Given the description of an element on the screen output the (x, y) to click on. 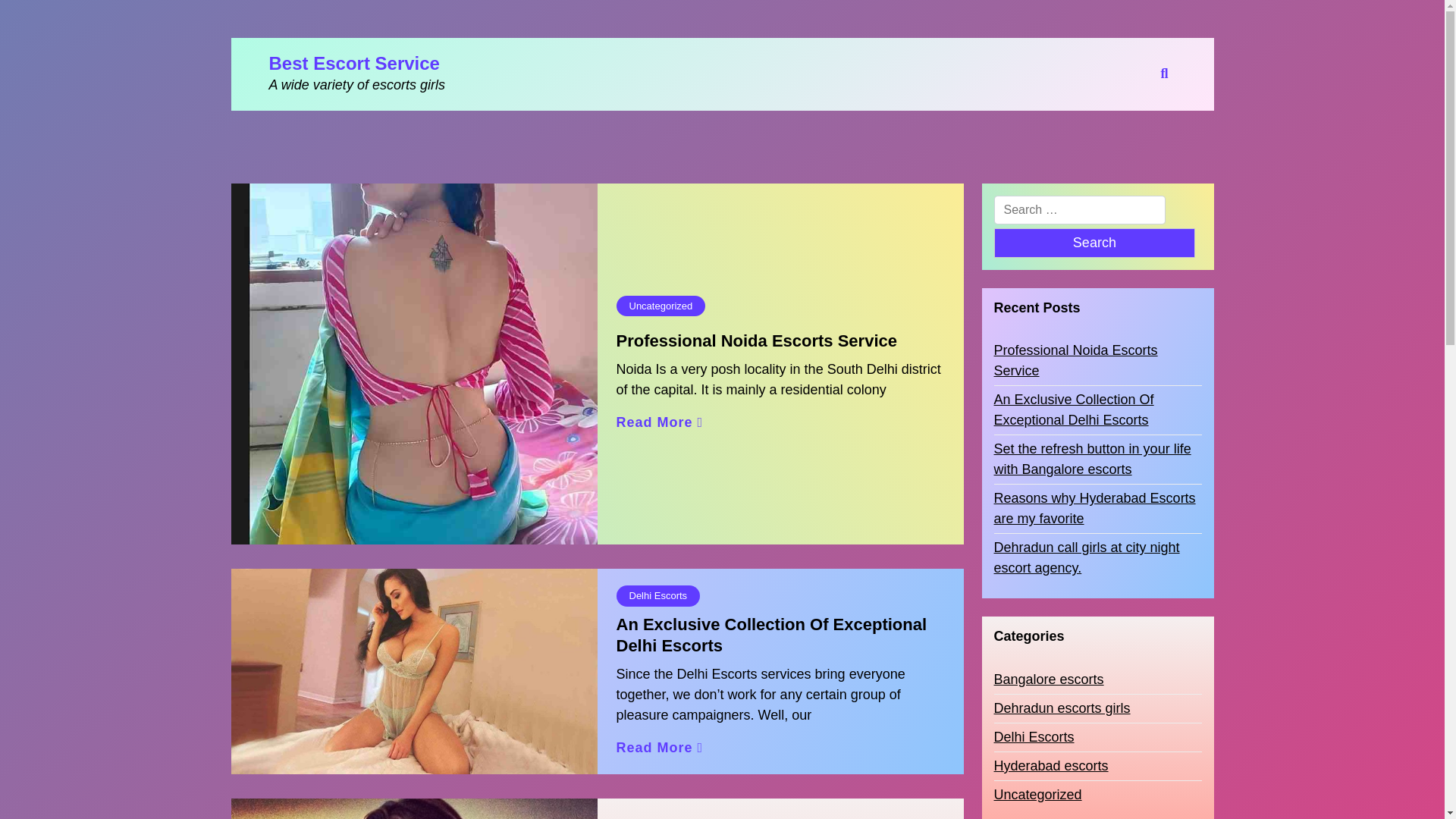
Uncategorized (659, 305)
Hyderabad escorts (1050, 765)
Dehradun call girls at city night escort agency. (1096, 557)
Professional Noida Escorts Service (1096, 360)
Search (1093, 242)
Professional Noida Escorts Service (755, 341)
Dehradun escorts girls (1060, 708)
Search (1093, 242)
Delhi Escorts (1033, 737)
Delhi Escorts (657, 595)
Bangalore escorts (1047, 679)
An Exclusive Collection Of Exceptional Delhi Escorts (1096, 409)
Read More (659, 422)
Read More (659, 747)
Search (1093, 242)
